Given the description of an element on the screen output the (x, y) to click on. 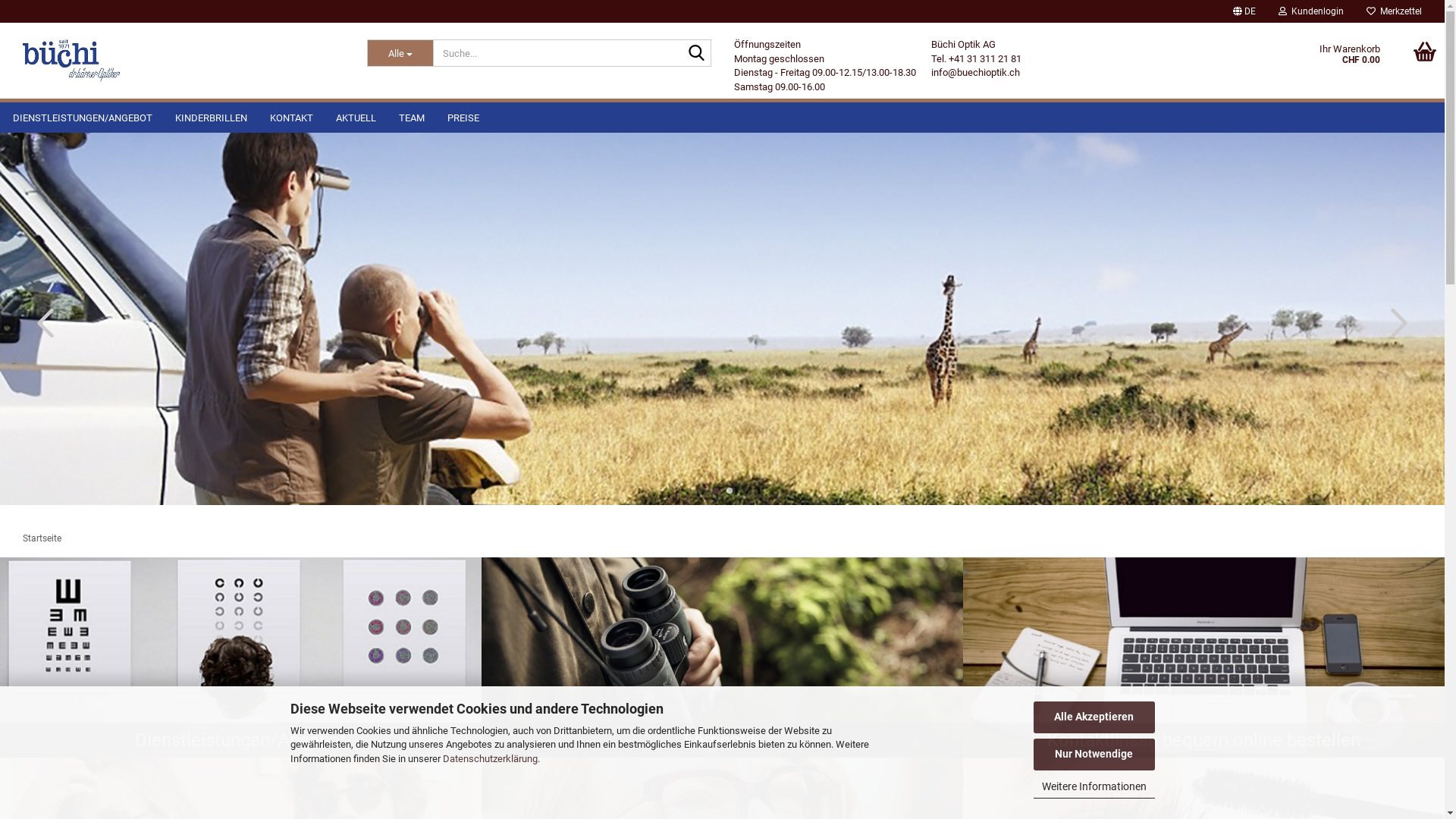
Alle Akzeptieren Element type: text (1093, 717)
Alle Element type: text (400, 52)
info@buechioptik.ch Element type: text (975, 72)
Dienstleistungen/Angebot Element type: text (240, 657)
buechioptik.ch Element type: hover (71, 60)
KINDERBRILLEN Element type: text (210, 117)
KONTAKT Element type: text (291, 117)
 Kundenlogin Element type: text (1311, 11)
Speichern Element type: text (1161, 123)
Ihr Warenkorb
CHF 0.00 Element type: text (1297, 60)
PREISE Element type: text (463, 117)
TEAM Element type: text (411, 117)
DIENSTLEISTUNGEN/ANGEBOT Element type: text (82, 117)
Nur Notwendige Element type: text (1093, 754)
Weitere Informationen Element type: text (1093, 787)
Anmelden Element type: text (1228, 185)
 Merkzettel Element type: text (1394, 11)
Startseite Element type: text (41, 538)
AKTUELL Element type: text (355, 117)
Fernoptik Element type: text (722, 657)
Kontaktlinsen bequem online bestellen Element type: text (1203, 657)
Tel. +41 31 311 21 81 Element type: text (976, 58)
DE Element type: text (1244, 11)
